Given the description of an element on the screen output the (x, y) to click on. 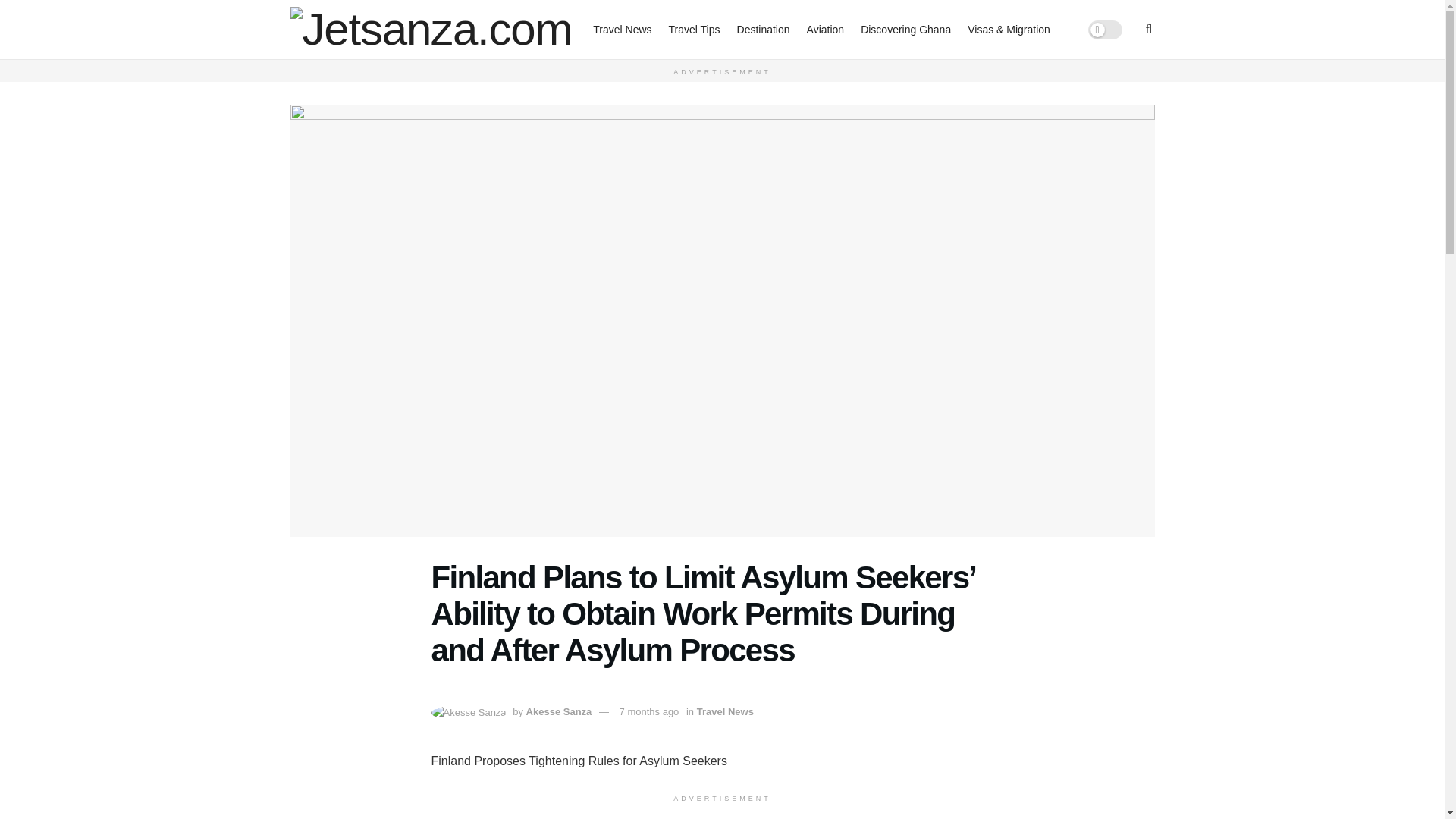
Travel News (725, 711)
Aviation (825, 29)
7 months ago (649, 711)
Travel News (621, 29)
Akesse Sanza (558, 711)
Discovering Ghana (905, 29)
Travel Tips (694, 29)
Destination (763, 29)
